Given the description of an element on the screen output the (x, y) to click on. 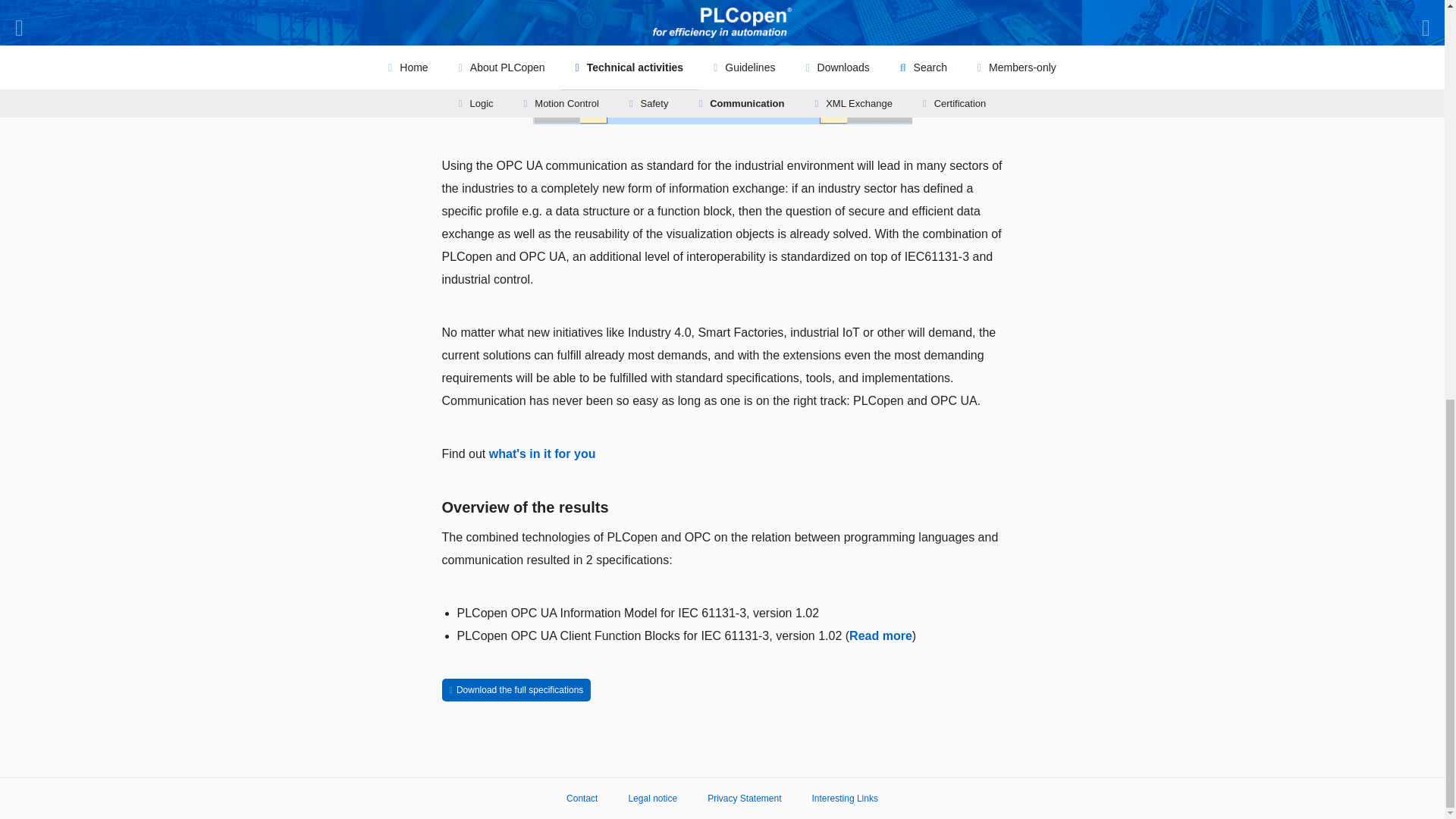
Contact (581, 798)
Privacy Statement (743, 798)
Interesting Links (844, 798)
Legal notice (652, 798)
Read more (880, 635)
what's in it for you (542, 453)
Download the full specifications (516, 689)
